Given the description of an element on the screen output the (x, y) to click on. 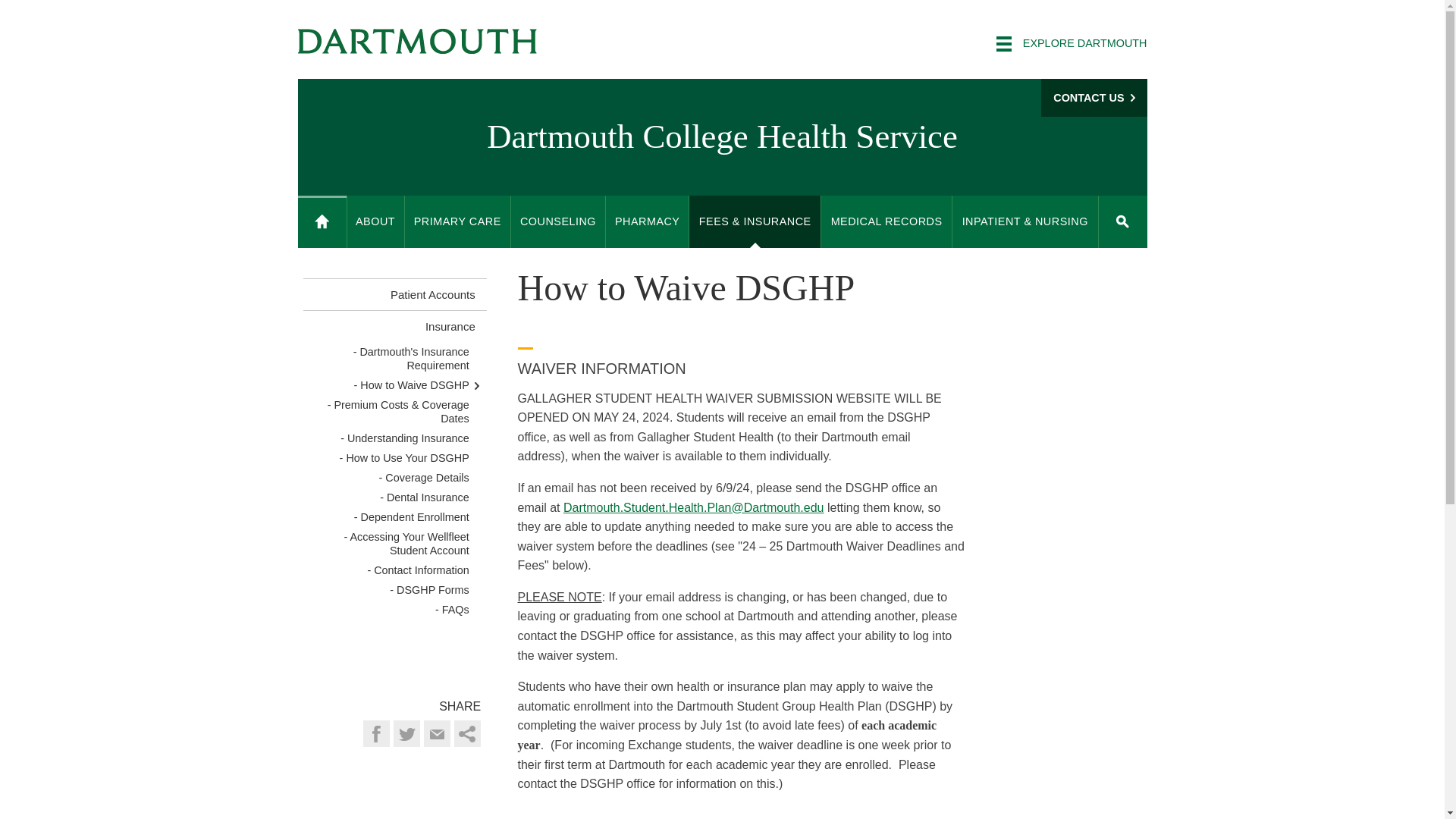
EXPLORE DARTMOUTH (1071, 43)
Dartmouth College (417, 41)
Home (321, 221)
